Given the description of an element on the screen output the (x, y) to click on. 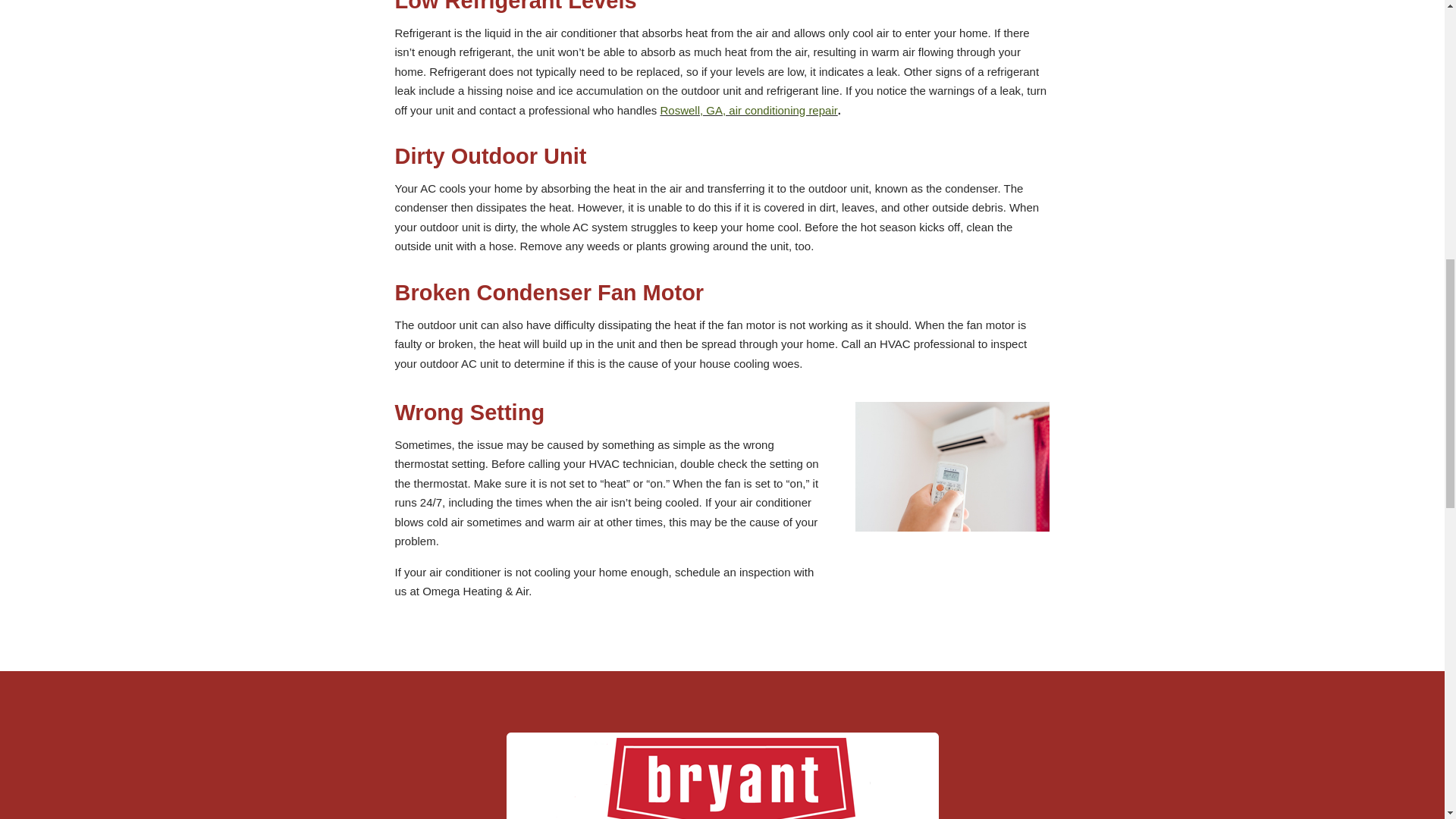
Roswell, GA, air conditioning repair (748, 110)
